Given the description of an element on the screen output the (x, y) to click on. 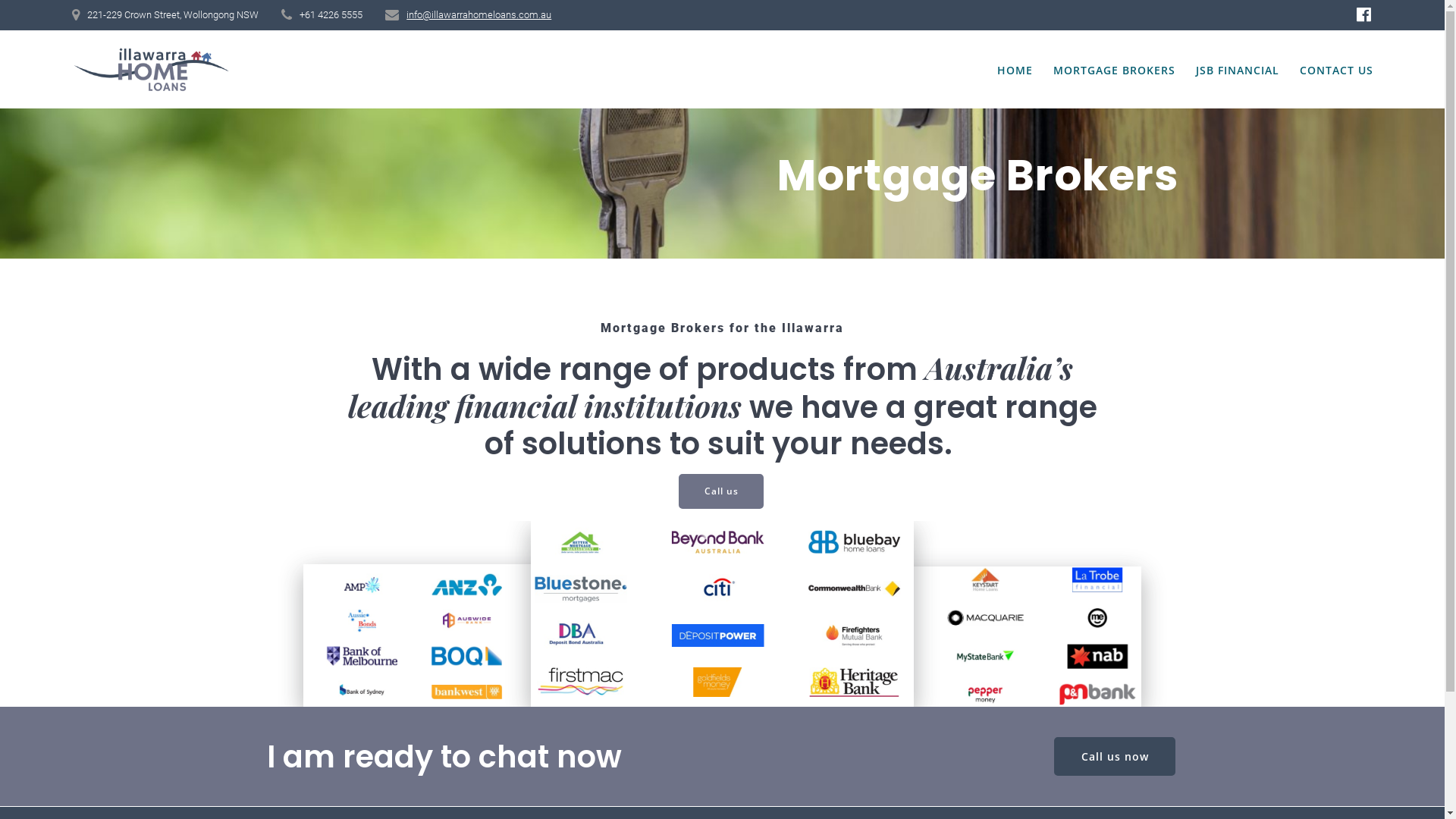
CONTACT US Element type: text (1336, 70)
info@illawarrahomeloans.com.au Element type: text (478, 14)
banks 2 Element type: hover (721, 613)
banks 3 Element type: hover (982, 636)
MORTGAGE BROKERS Element type: text (1114, 70)
HOME Element type: text (1014, 70)
Call us Element type: text (720, 490)
JSB FINANCIAL Element type: text (1237, 70)
Call us now Element type: text (1114, 756)
banks 1 Element type: hover (462, 635)
